Given the description of an element on the screen output the (x, y) to click on. 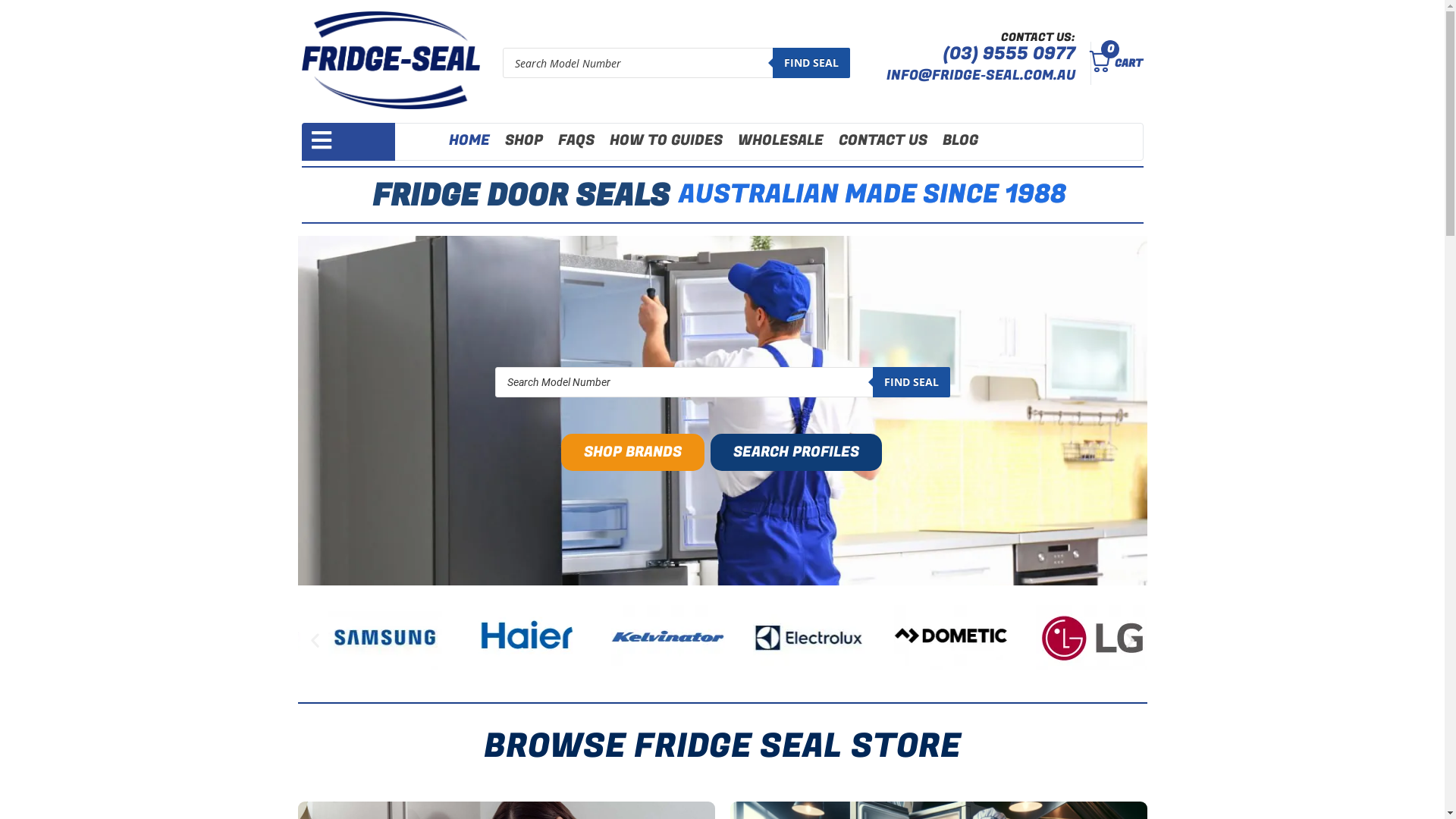
HOME Element type: text (468, 140)
BLOG Element type: text (960, 140)
FIND SEAL Element type: text (811, 62)
HOW TO GUIDES Element type: text (665, 140)
FIND SEAL Element type: text (910, 382)
SHOP BRANDS Element type: text (632, 451)
INFO@FRIDGE-SEAL.COM.AU Element type: text (980, 75)
SEARCH PROFILES Element type: text (795, 451)
WHOLESALE Element type: text (780, 140)
FAQS Element type: text (576, 140)
CONTACT US Element type: text (882, 140)
(03) 9555 0977 Element type: text (1009, 53)
CART
0 Element type: text (1111, 62)
SHOP Element type: text (523, 140)
